Given the description of an element on the screen output the (x, y) to click on. 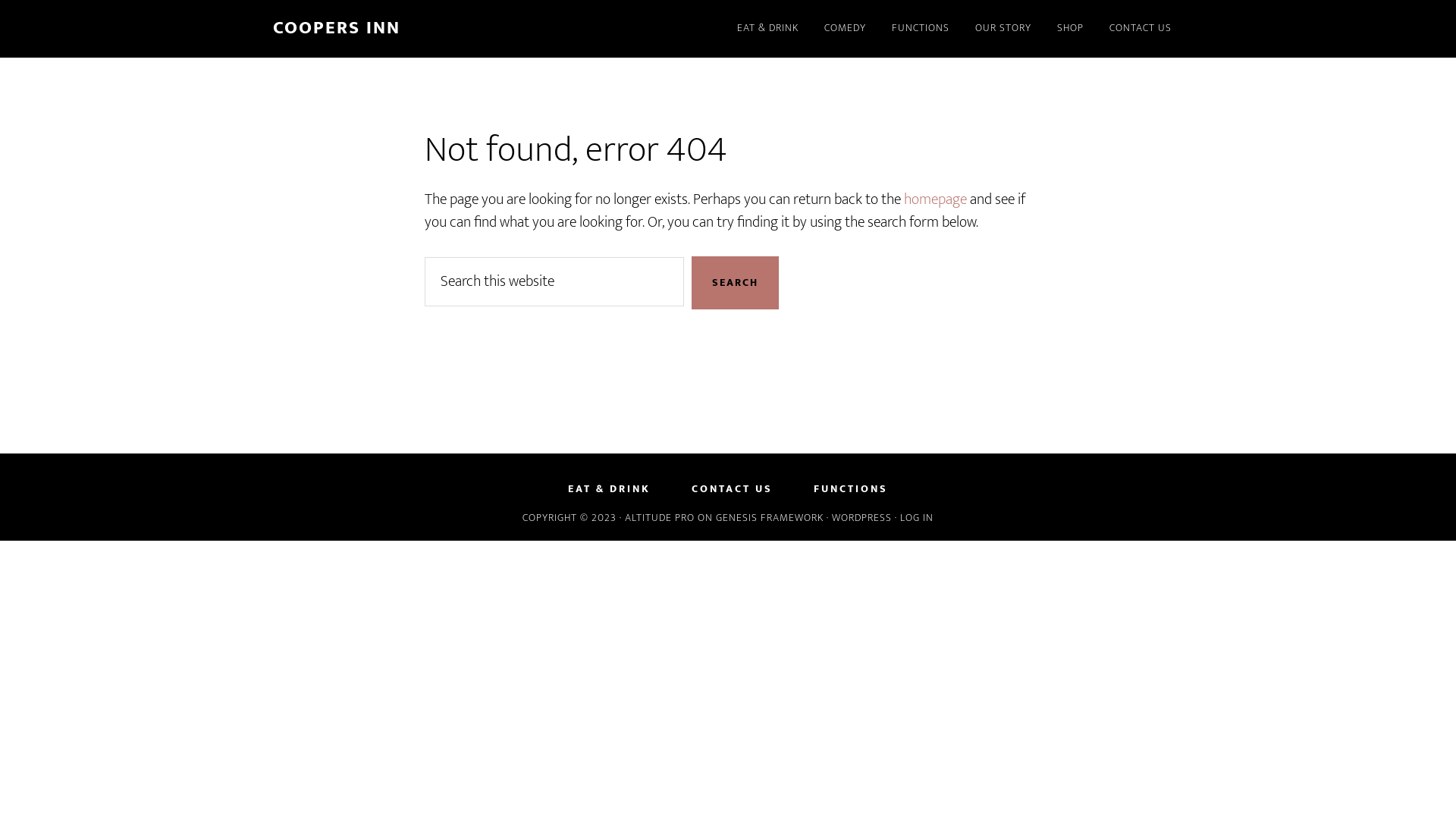
COOPERS INN Element type: text (336, 27)
EAT & DRINK Element type: text (767, 28)
Search Element type: text (734, 282)
SHOP Element type: text (1070, 28)
FUNCTIONS Element type: text (920, 28)
homepage Element type: text (934, 199)
FUNCTIONS Element type: text (850, 489)
ALTITUDE PRO Element type: text (659, 517)
LOG IN Element type: text (916, 517)
GENESIS FRAMEWORK Element type: text (769, 517)
CONTACT US Element type: text (1140, 28)
CONTACT US Element type: text (731, 489)
COMEDY Element type: text (844, 28)
WORDPRESS Element type: text (861, 517)
OUR STORY Element type: text (1002, 28)
Skip to main content Element type: text (0, 0)
EAT & DRINK Element type: text (609, 489)
